Given the description of an element on the screen output the (x, y) to click on. 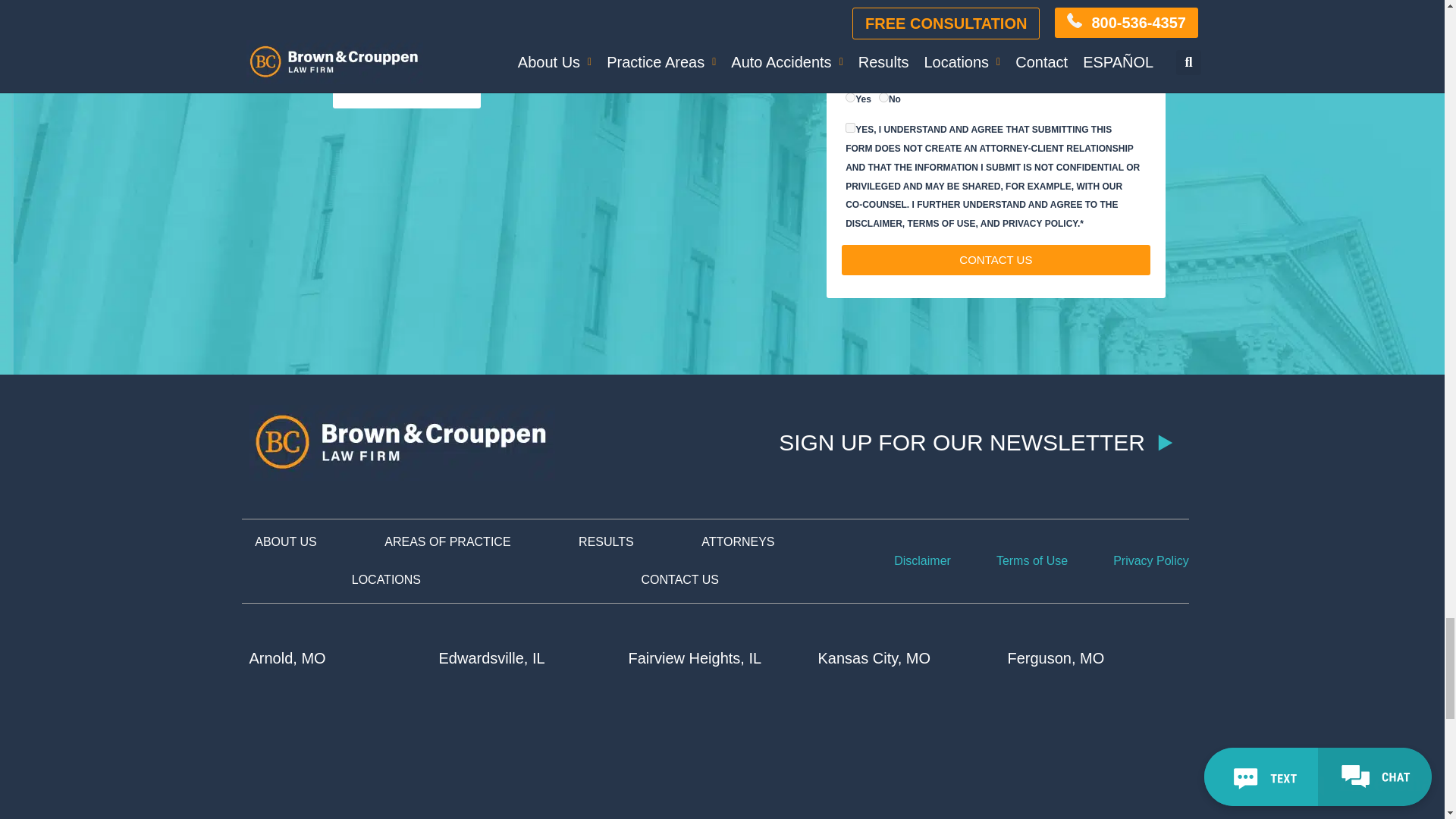
No (883, 97)
Yes (850, 97)
Submit (995, 259)
true (850, 127)
